Given the description of an element on the screen output the (x, y) to click on. 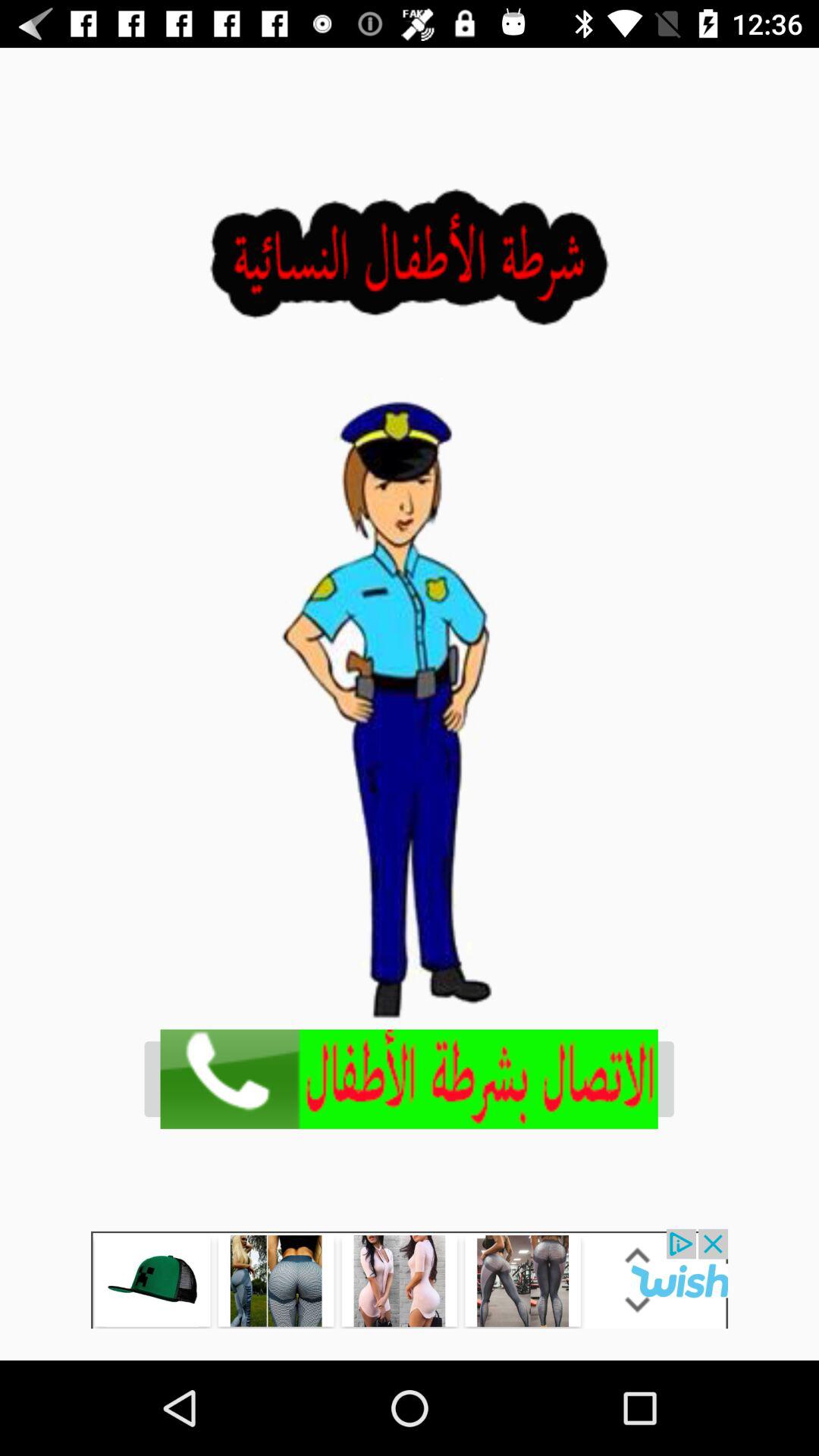
understand its functionality and purpose (409, 1278)
